Given the description of an element on the screen output the (x, y) to click on. 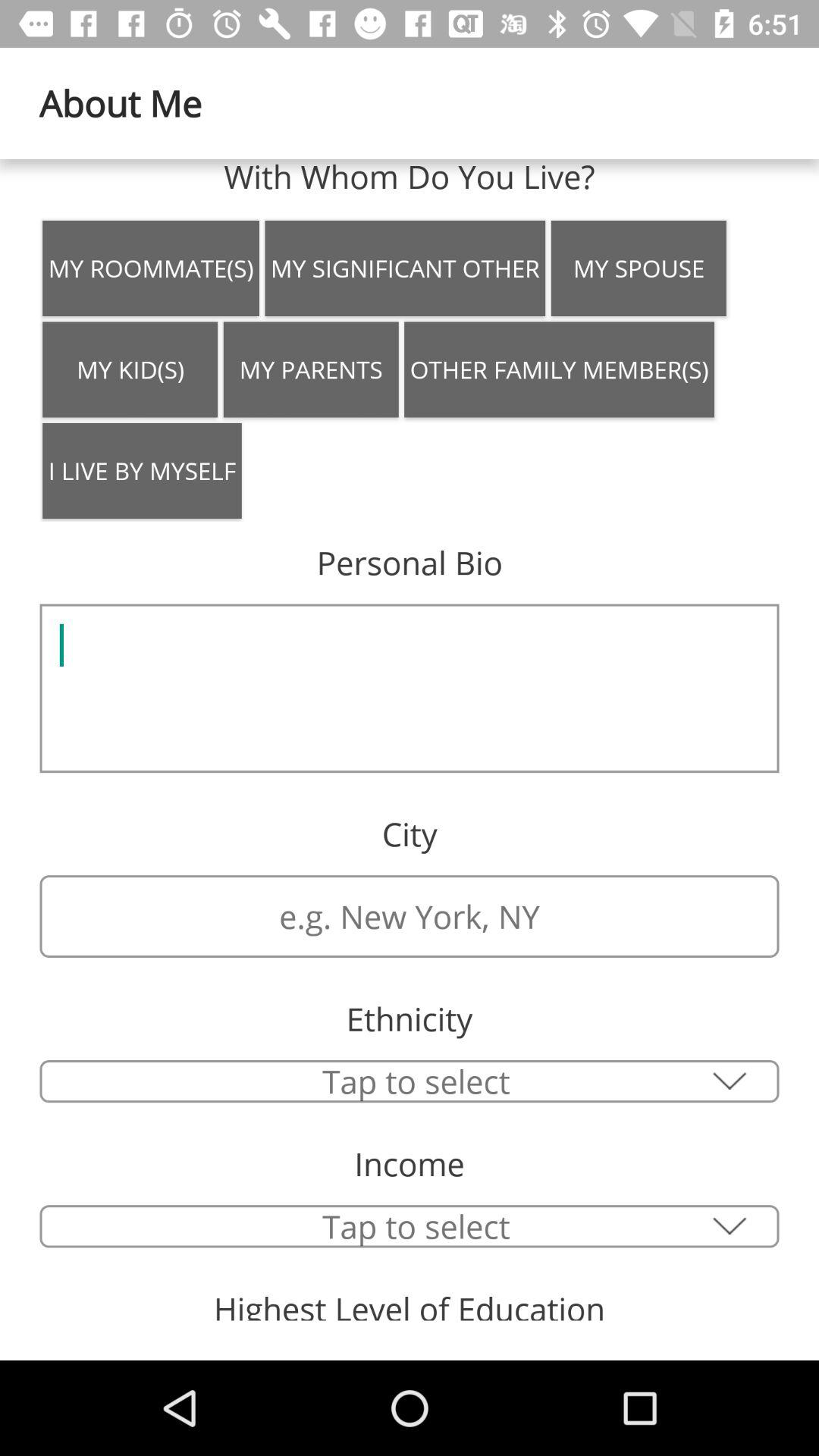
city field (409, 916)
